Given the description of an element on the screen output the (x, y) to click on. 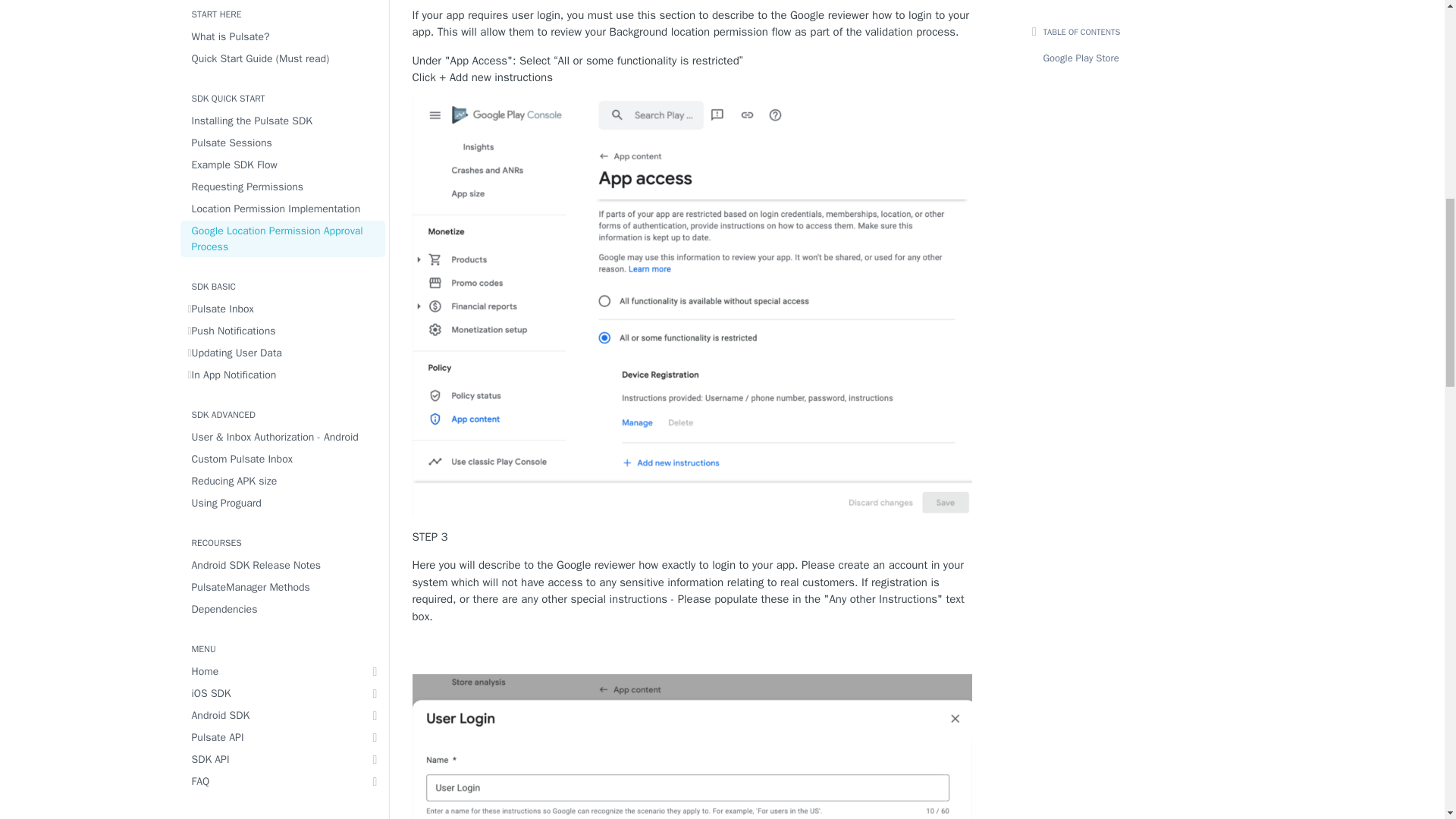
step3.png (692, 727)
